Given the description of an element on the screen output the (x, y) to click on. 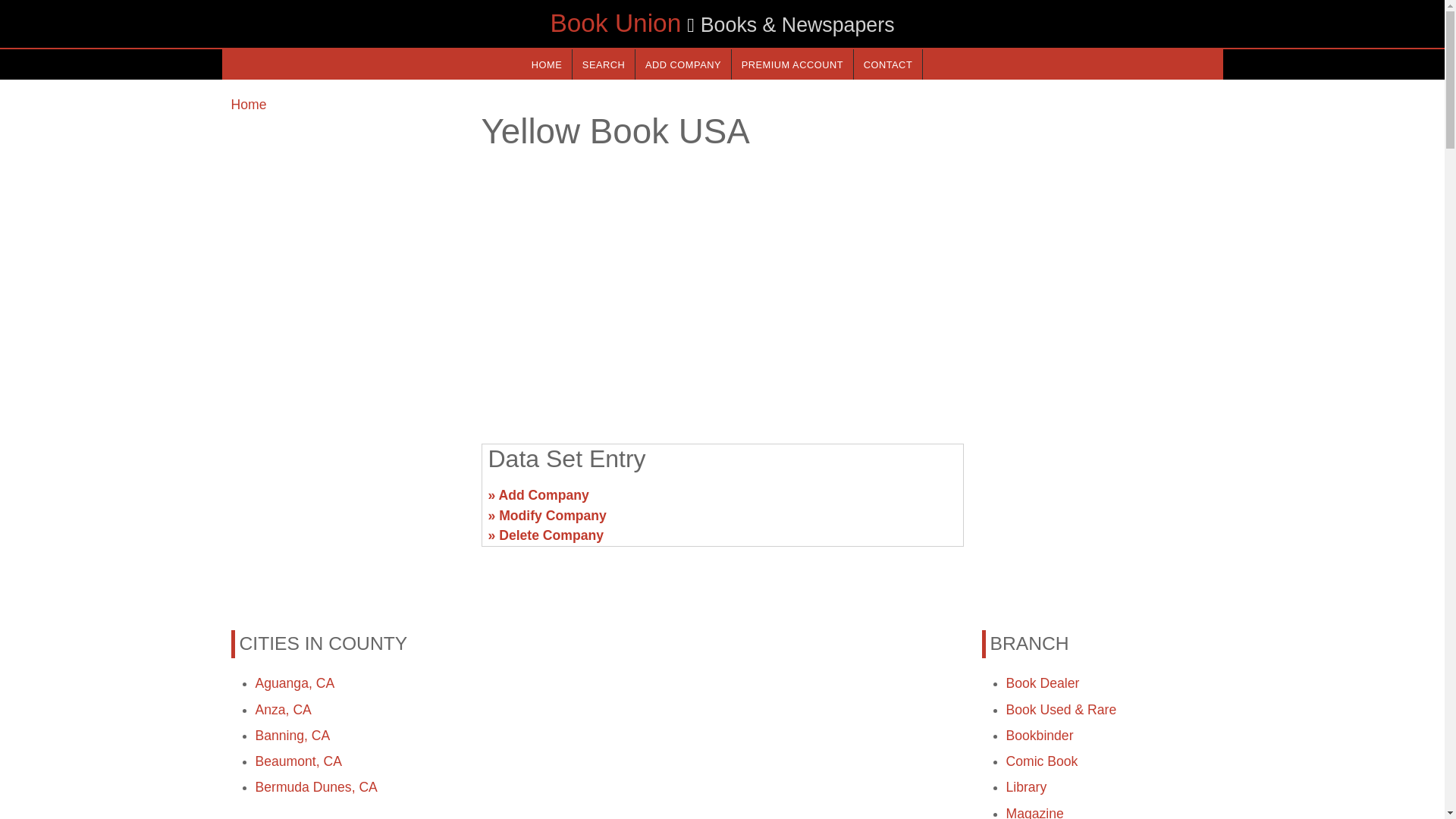
Comic Book (1041, 761)
SEARCH (603, 64)
Premium account (792, 64)
Beaumont, CA (297, 761)
Anza, CA (282, 709)
Search in this webseite. (603, 64)
Library (1026, 786)
CONTACT (887, 64)
Book Dealer (1042, 683)
Home (248, 104)
ADD COMPANY (682, 64)
Aguanga, CA (294, 683)
HOME (546, 64)
Add a new company (682, 64)
Book Union (615, 22)
